Given the description of an element on the screen output the (x, y) to click on. 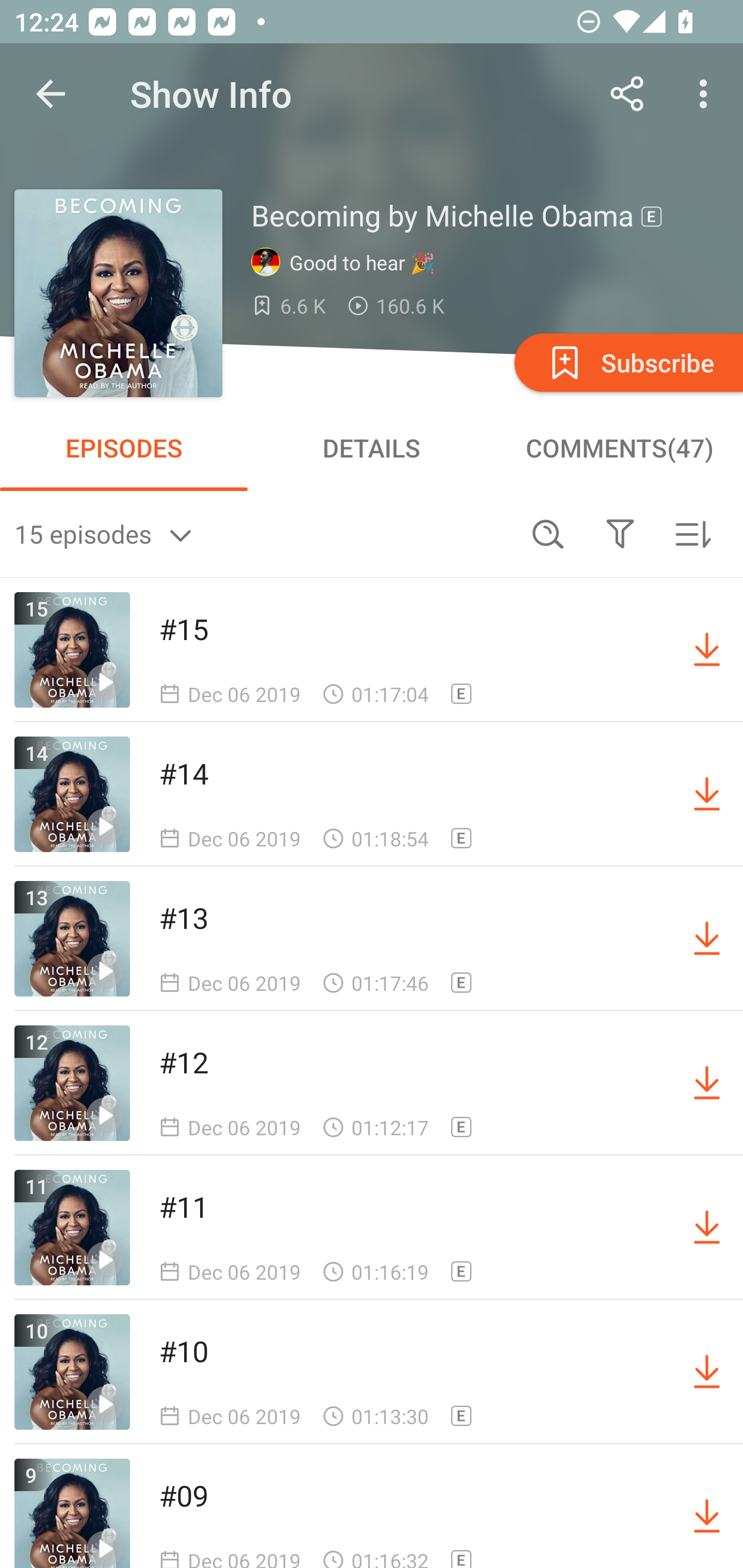
Navigate up (50, 93)
Share (626, 93)
More options (706, 93)
Good to hear 🎉 (348, 262)
Subscribe (627, 361)
EPISODES (123, 447)
DETAILS (371, 447)
COMMENTS(47) (619, 447)
15 episodes  (262, 533)
 Search (547, 533)
 (619, 533)
 Sorted by newest first (692, 533)
Download (706, 649)
Download (706, 793)
Download (706, 939)
Download (706, 1083)
Download (706, 1227)
Download (706, 1371)
Download (706, 1513)
